Given the description of an element on the screen output the (x, y) to click on. 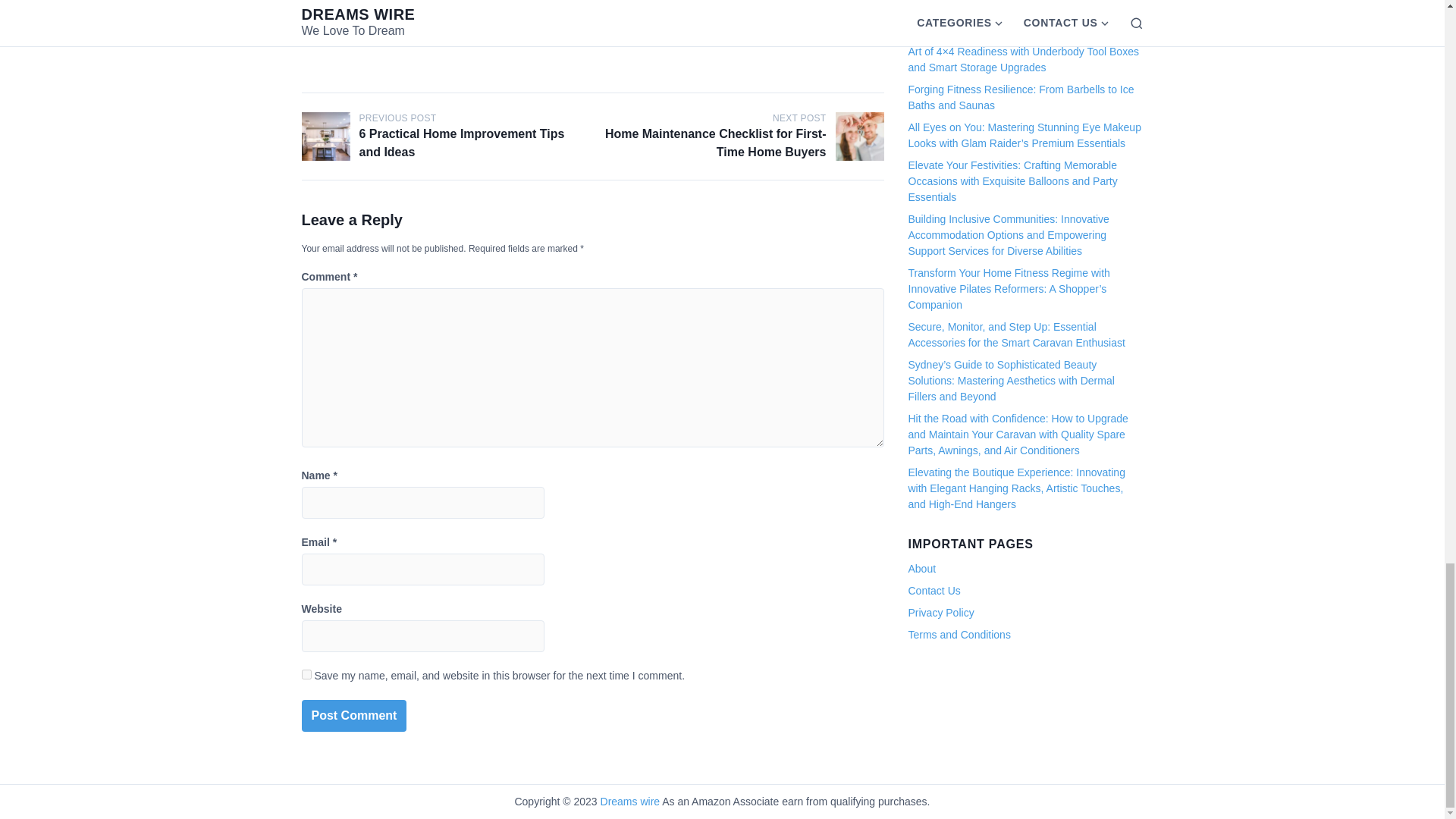
yes (306, 674)
Post Comment (354, 716)
Home Maintenance Checklist for First-Time Home Buyers (859, 136)
6 Practical Home Improvement Tips and Ideas (325, 136)
